Given the description of an element on the screen output the (x, y) to click on. 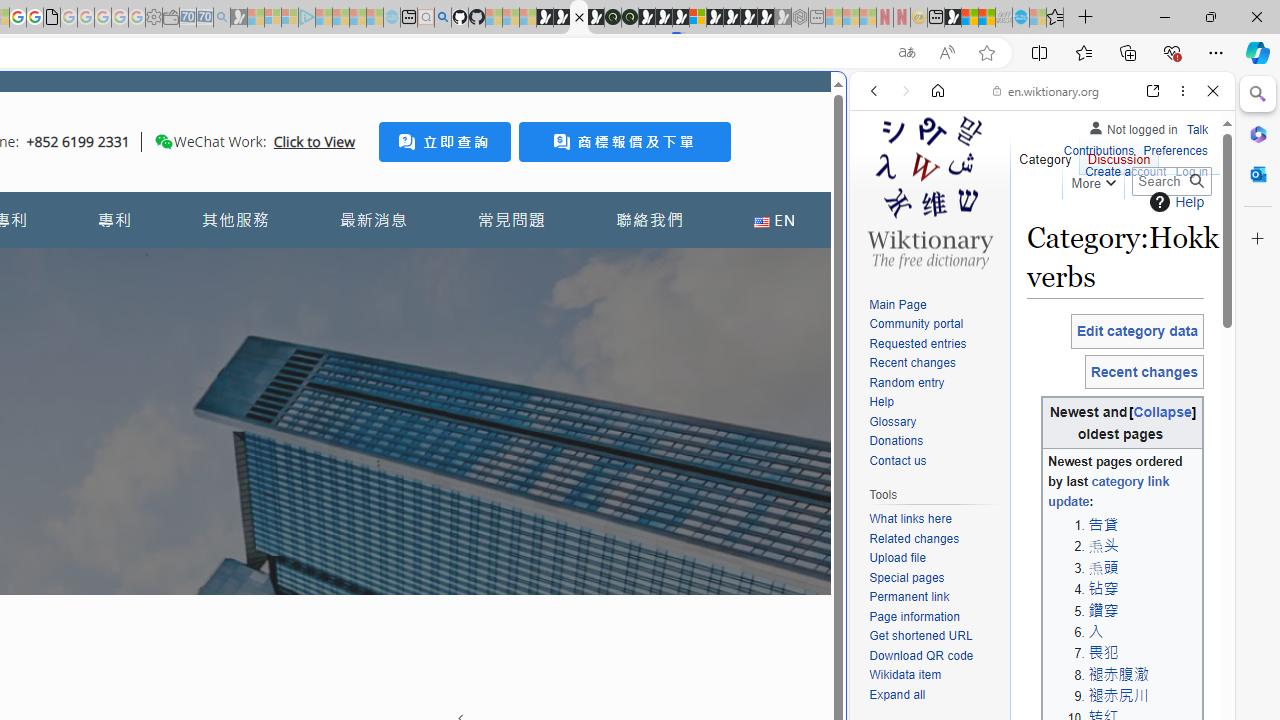
Get shortened URL (920, 636)
Community portal (916, 323)
Tabs you've opened (276, 265)
Contact us (934, 461)
